Given the description of an element on the screen output the (x, y) to click on. 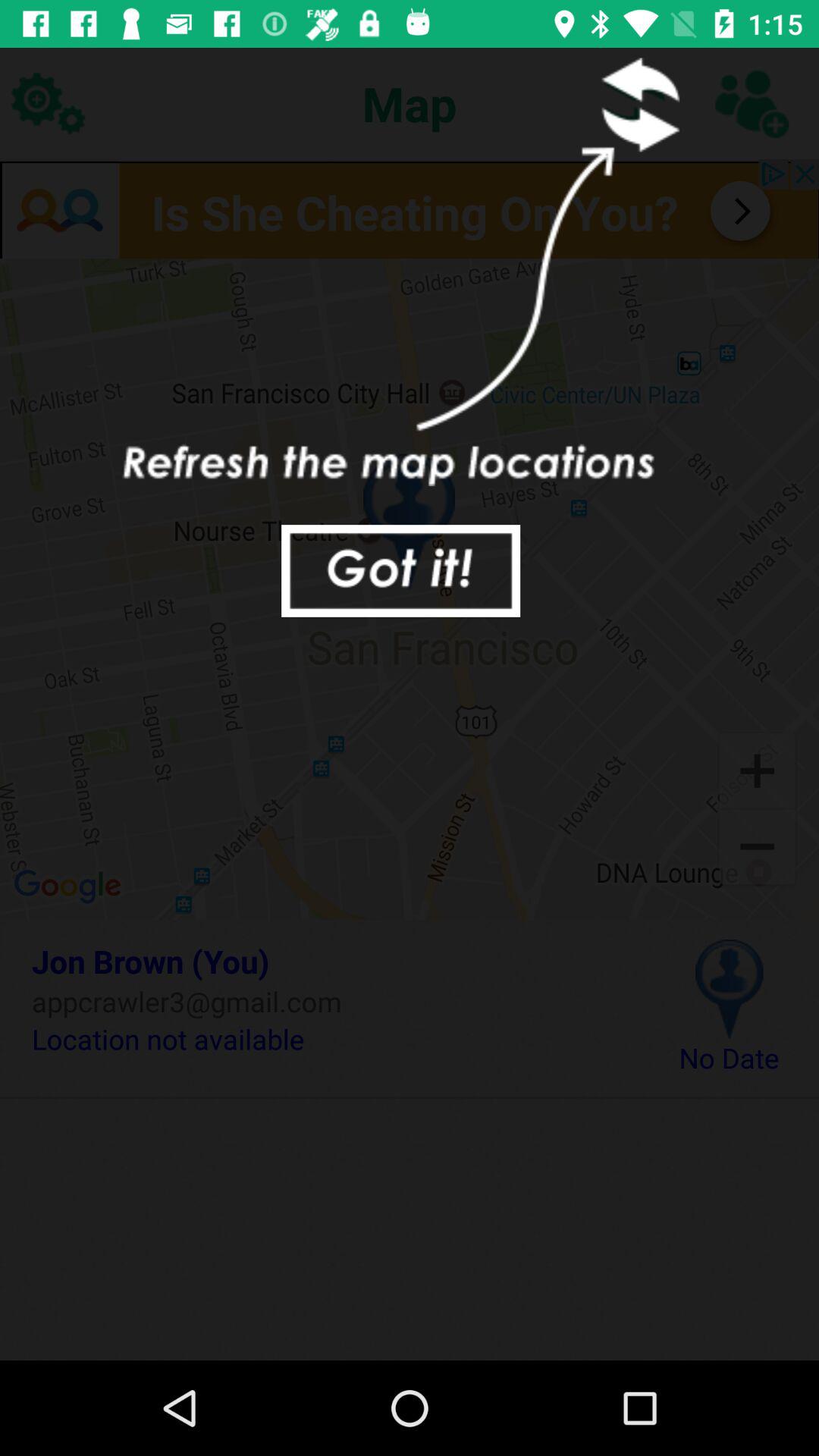
continue (400, 570)
